Given the description of an element on the screen output the (x, y) to click on. 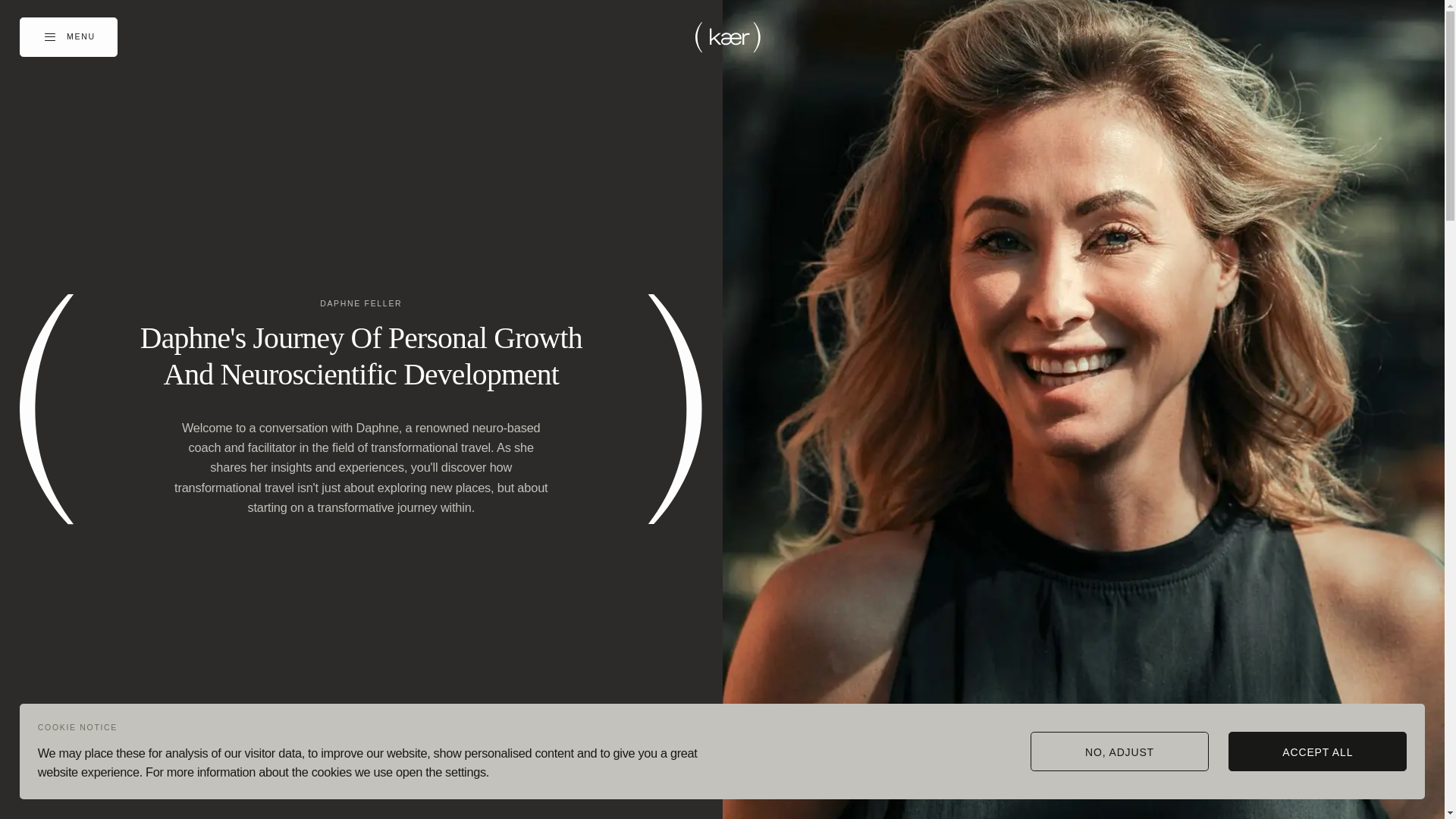
Skip to main content (4, 3)
MENU (68, 36)
ACCEPT ALL (1317, 751)
NO, ADJUST (1119, 751)
